Given the description of an element on the screen output the (x, y) to click on. 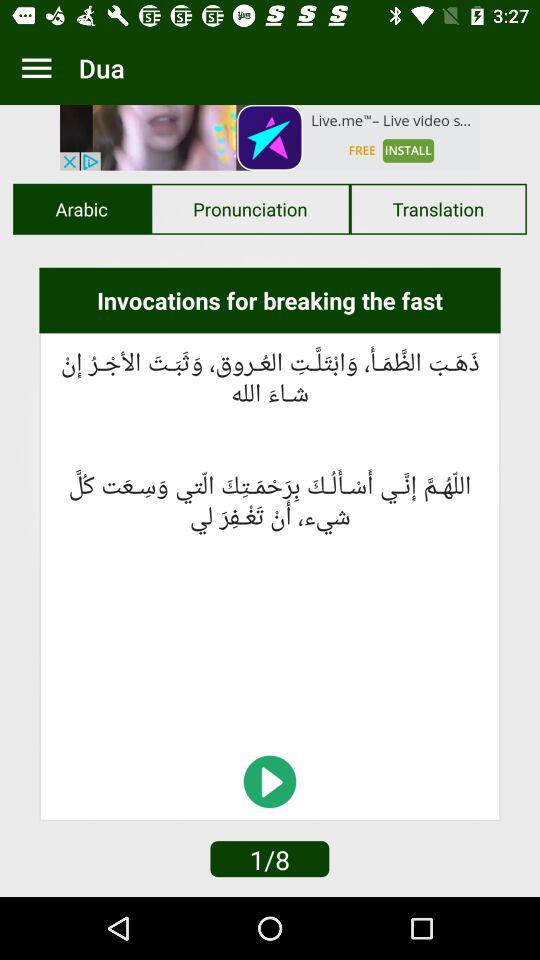
click to menu option (36, 68)
